Given the description of an element on the screen output the (x, y) to click on. 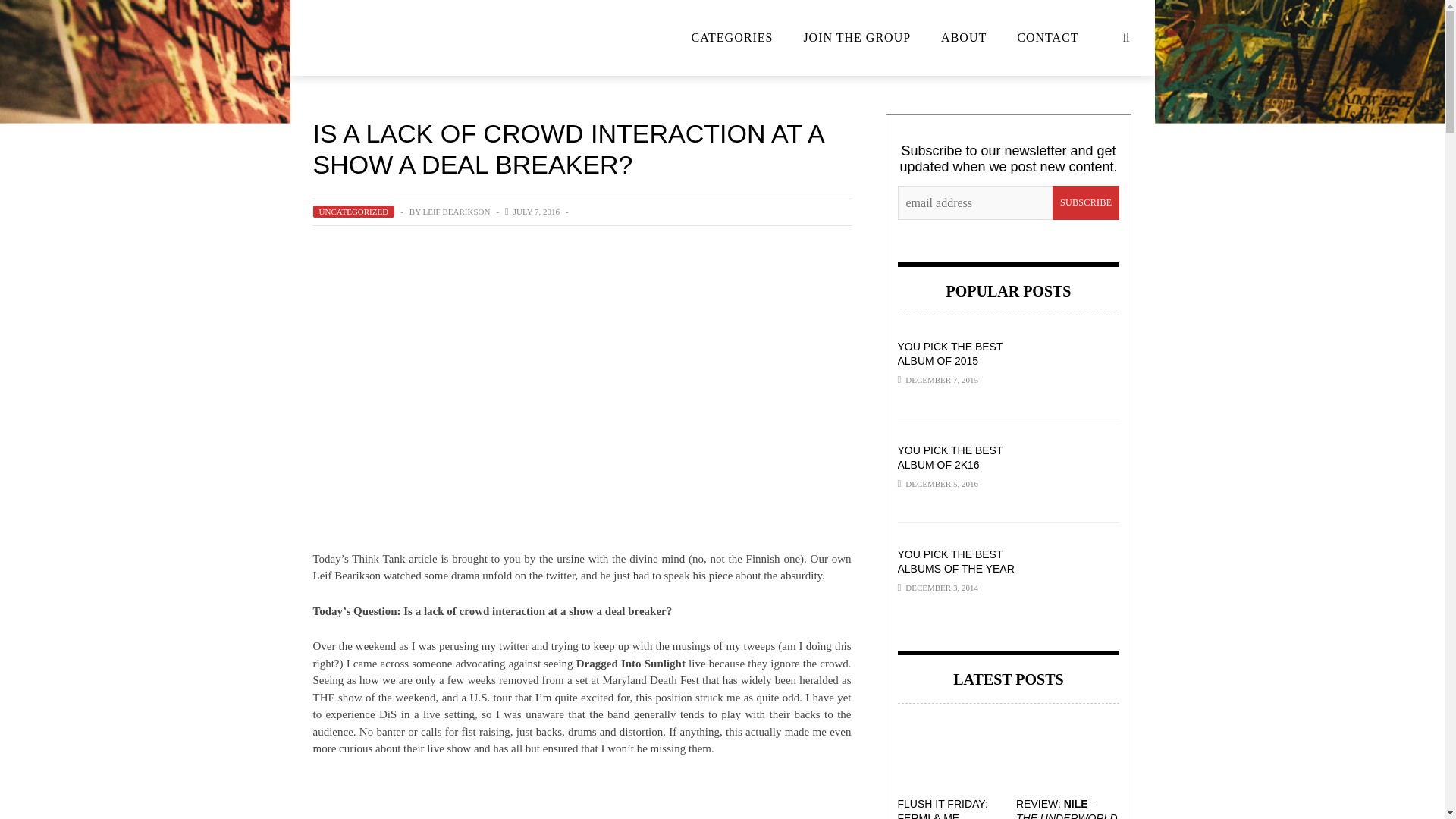
Subscribe (1085, 202)
YouTube player (582, 797)
CATEGORIES (733, 37)
